Given the description of an element on the screen output the (x, y) to click on. 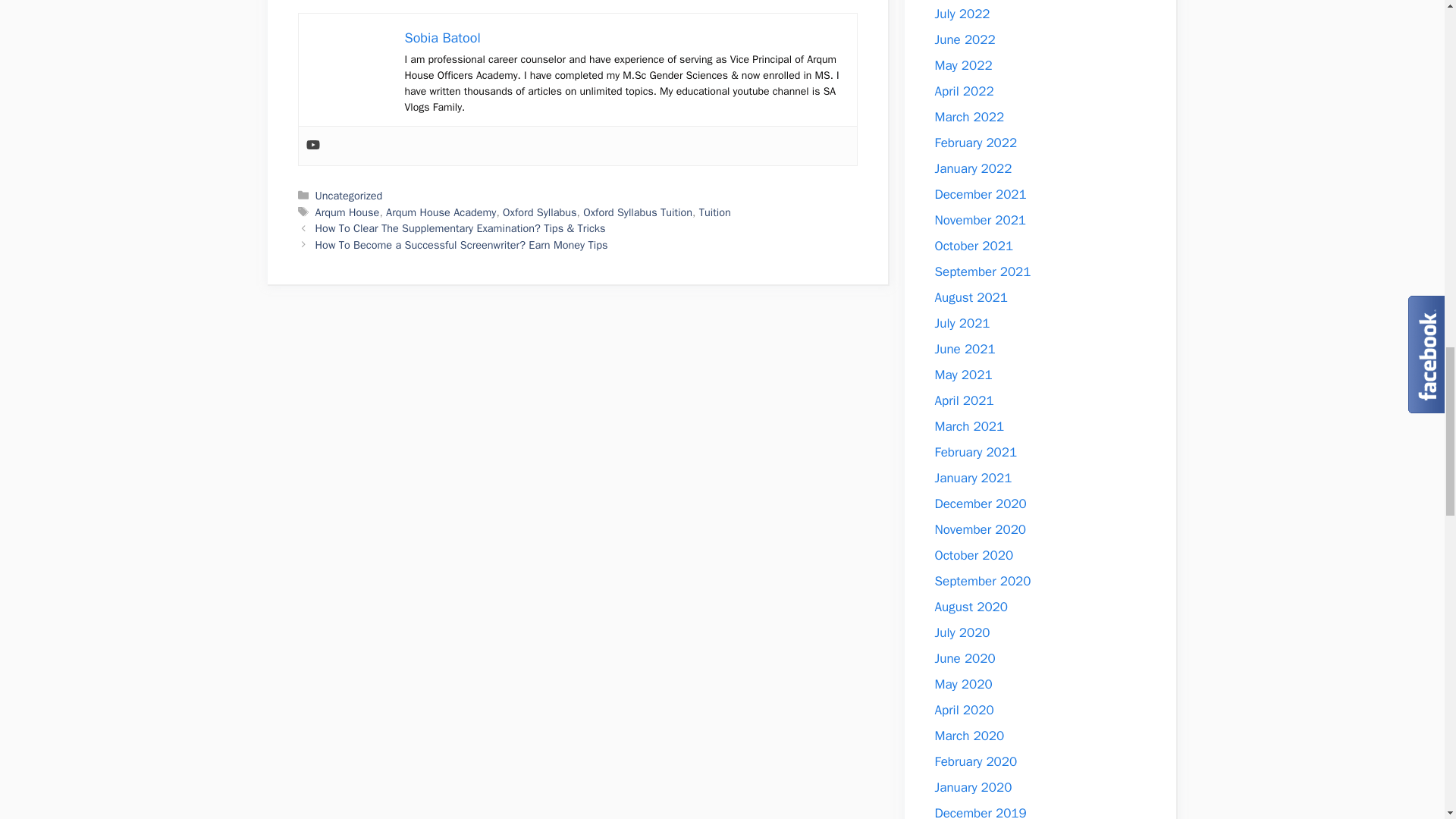
Uncategorized (348, 195)
Youtube (312, 145)
Sobia Batool (442, 37)
